Given the description of an element on the screen output the (x, y) to click on. 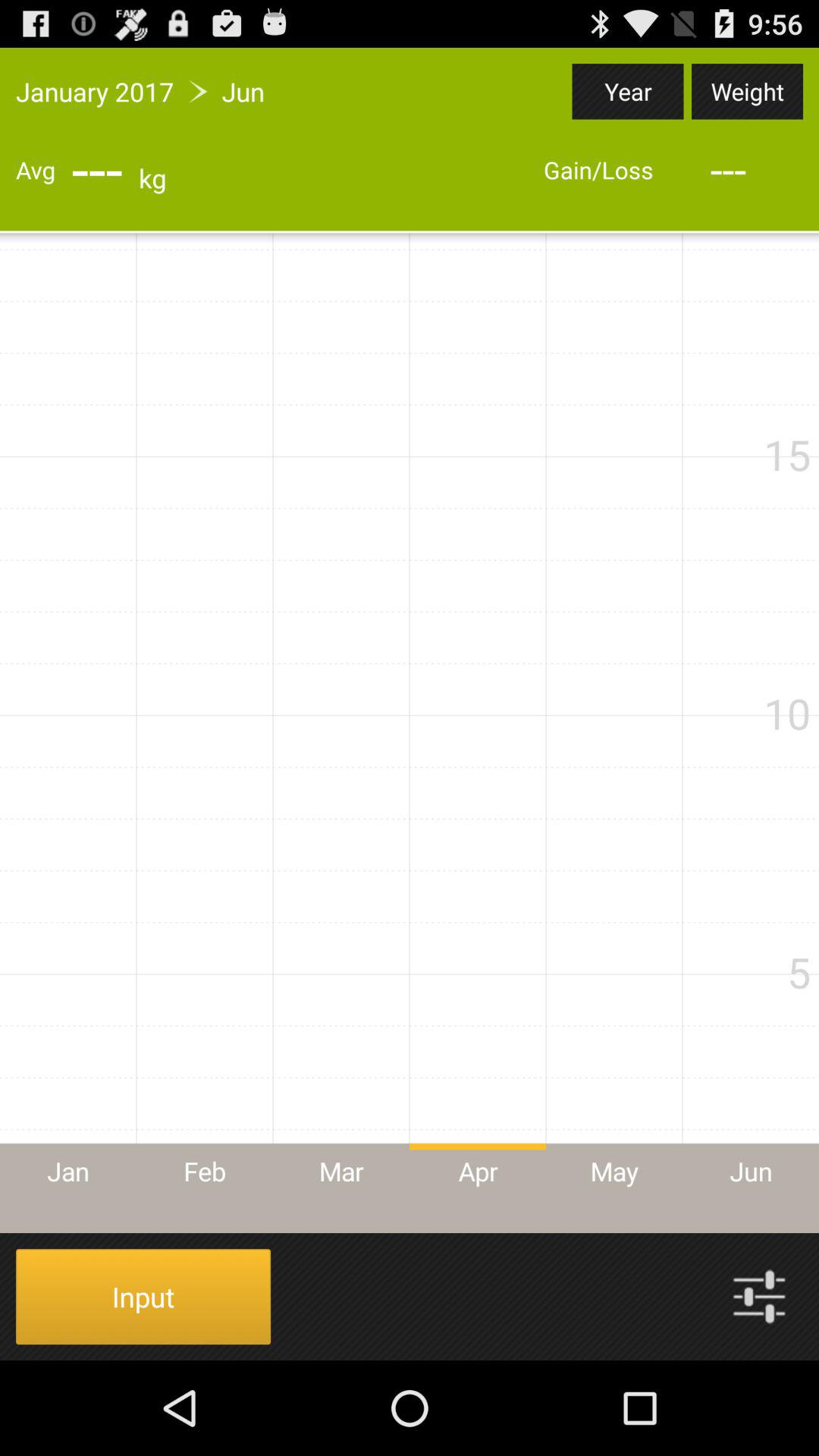
press the item next to the input button (759, 1296)
